Given the description of an element on the screen output the (x, y) to click on. 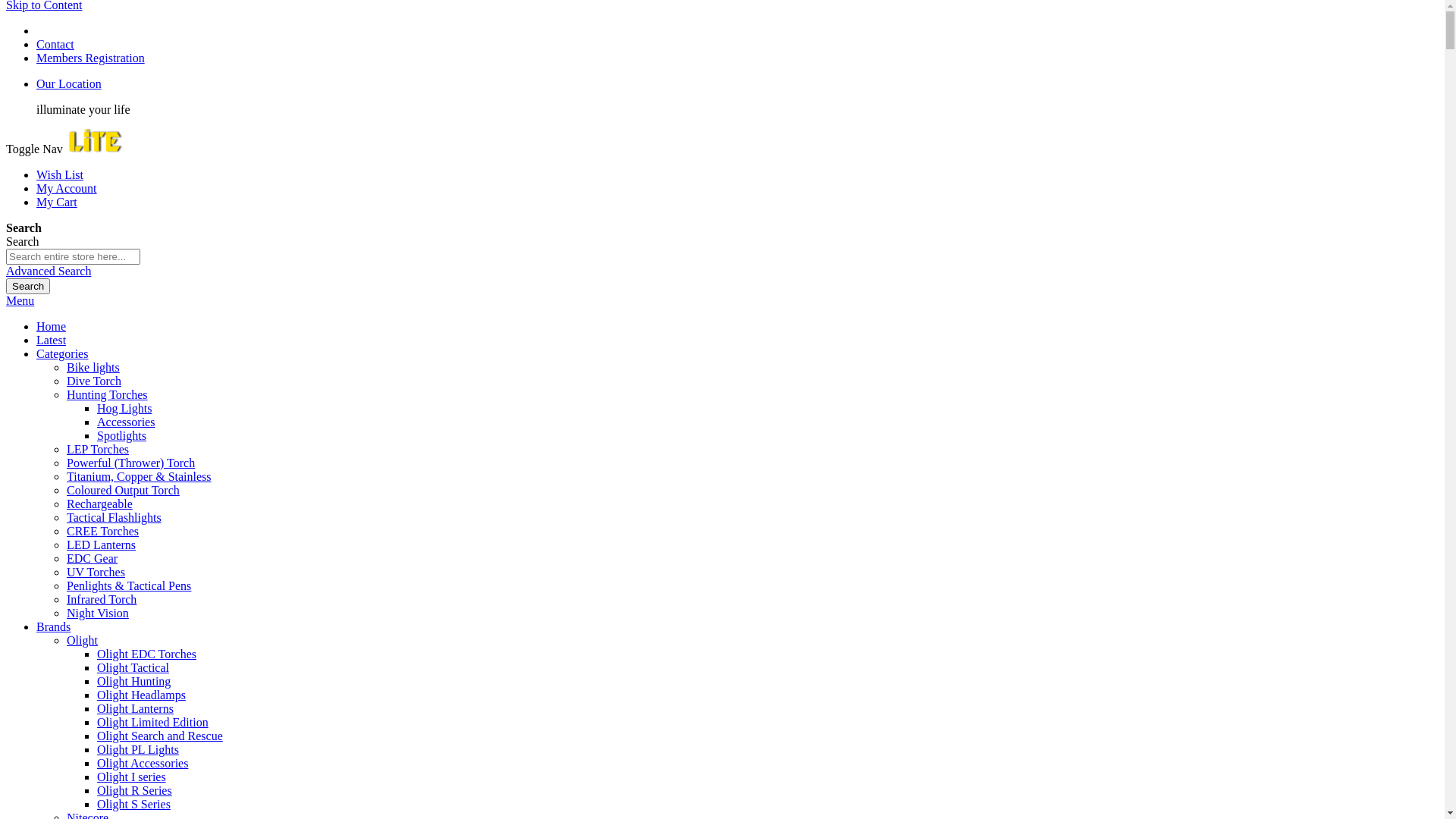
Infrared Torch Element type: text (101, 599)
Olight Headlamps Element type: text (141, 694)
Night Vision Element type: text (97, 612)
Menu Element type: text (20, 300)
Olight Element type: text (81, 639)
Olight I series Element type: text (131, 776)
Olight EDC Torches Element type: text (146, 653)
Olight Accessories Element type: text (142, 762)
Titanium, Copper & Stainless Element type: text (138, 476)
Advanced Search Element type: text (48, 270)
Rechargeable Element type: text (99, 503)
Home Element type: text (50, 326)
Accessories Element type: text (125, 421)
CREE Torches Element type: text (102, 530)
Penlights & Tactical Pens Element type: text (128, 585)
Hunting Torches Element type: text (106, 394)
UV Torches Element type: text (95, 571)
Olight S Series Element type: text (133, 803)
LED Lanterns Element type: text (100, 544)
Olight PL Lights Element type: text (137, 749)
Contact Element type: text (55, 43)
Olight Lanterns Element type: text (135, 708)
Olight Hunting Element type: text (133, 680)
Latest Element type: text (50, 339)
Olight Limited Edition Element type: text (152, 721)
Our Location Element type: text (68, 83)
Bike lights Element type: text (92, 366)
My Cart Element type: text (56, 201)
Dive Torch Element type: text (93, 380)
Tactical Flashlights Element type: text (113, 517)
Wish List Element type: text (59, 174)
Brands Element type: text (53, 626)
My Account Element type: text (66, 188)
Olight Search and Rescue Element type: text (159, 735)
Hog Lights Element type: text (124, 407)
Powerful (Thrower) Torch Element type: text (130, 462)
Categories Element type: text (61, 353)
Olight R Series Element type: text (134, 790)
Search Element type: text (28, 286)
Olight Tactical Element type: text (133, 667)
Coloured Output Torch Element type: text (122, 489)
Members Registration Element type: text (90, 57)
LEP Torches Element type: text (97, 448)
Spotlights Element type: text (121, 435)
EDC Gear Element type: text (91, 558)
